Given the description of an element on the screen output the (x, y) to click on. 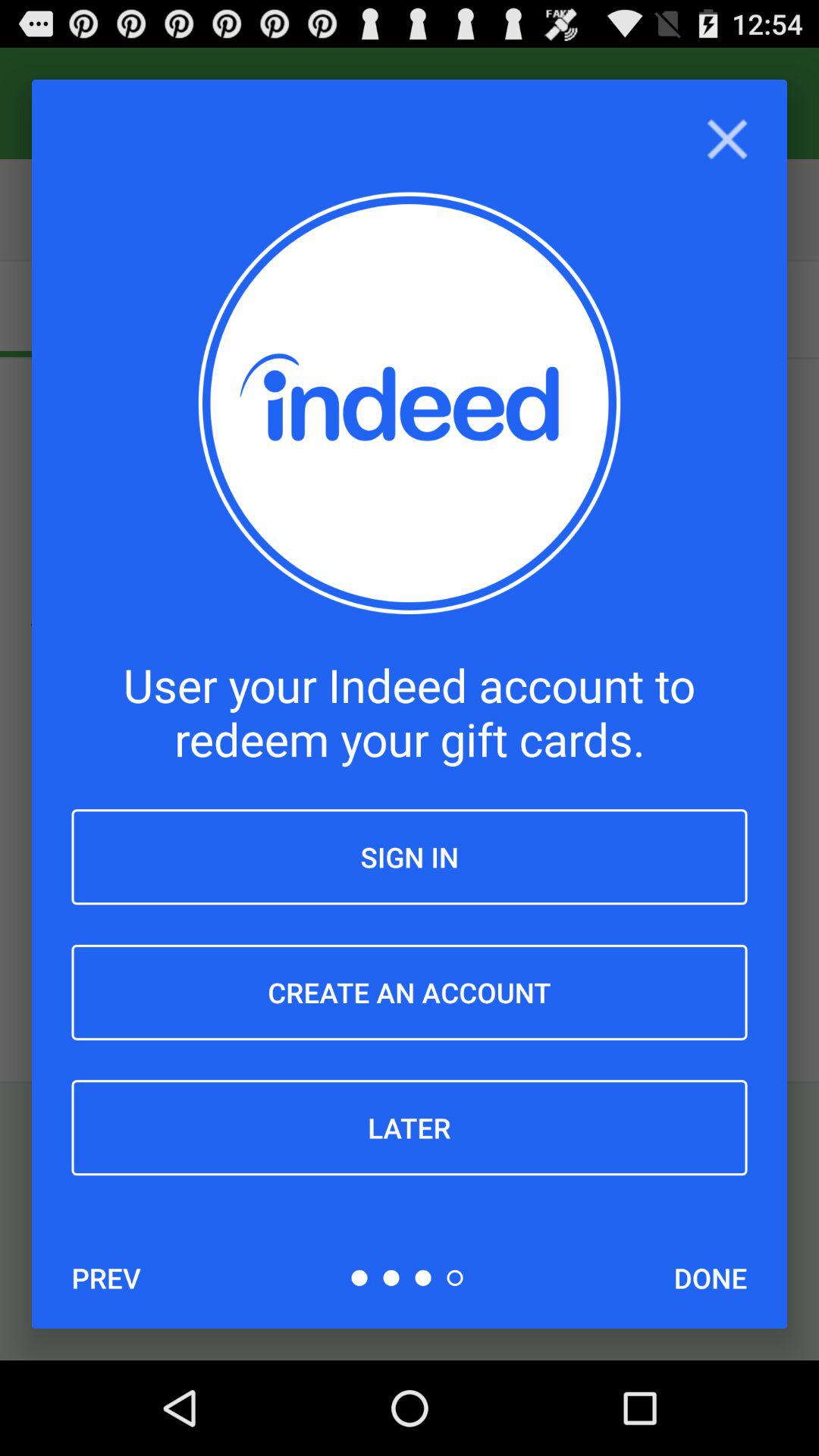
click the icon at the bottom right corner (710, 1277)
